Given the description of an element on the screen output the (x, y) to click on. 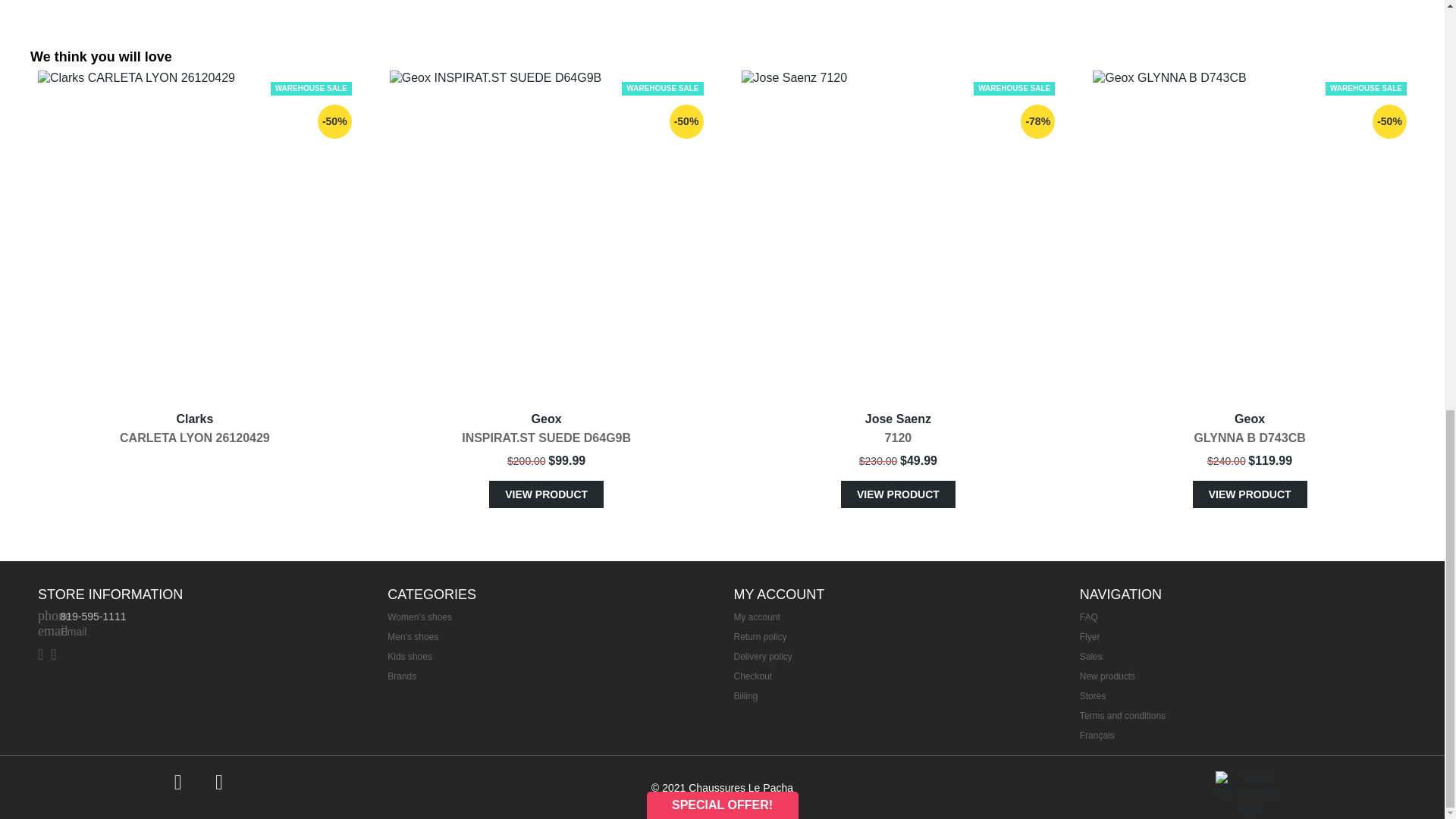
Geox GLYNNA B D743CB (1249, 235)
Geox INSPIRAT.ST SUEDE D64G9B (546, 235)
Clarks CARLETA LYON 26120429 (194, 235)
Jose Saenz 7120 (898, 235)
Clarks UN ADORN WALK 26145172 (445, 9)
